Given the description of an element on the screen output the (x, y) to click on. 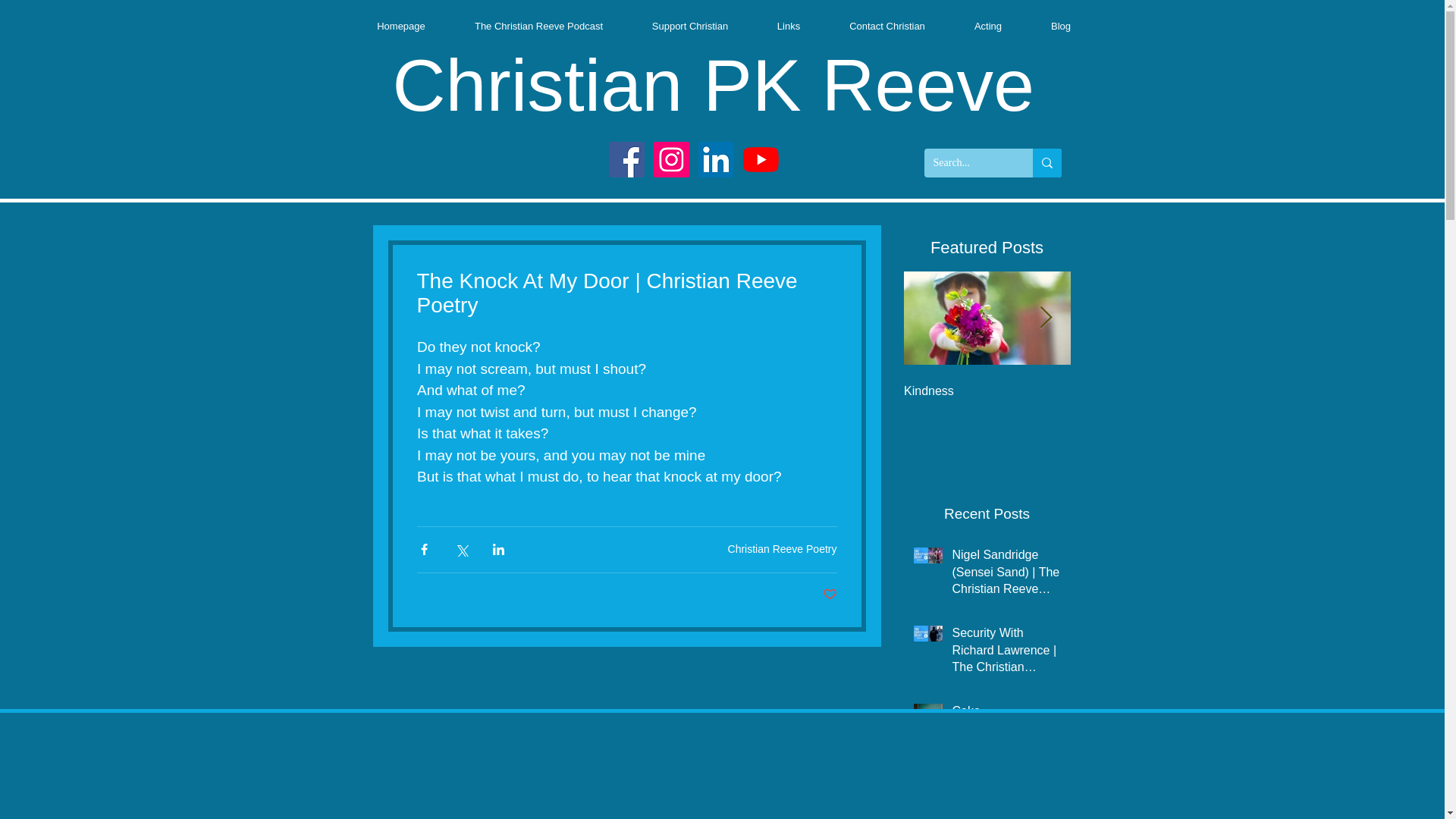
Post not marked as liked (828, 594)
Support Christian (689, 26)
Cake (1006, 713)
Homepage (400, 26)
Christian Reeve Poetry (782, 548)
The Christian Reeve Podcast (538, 26)
Christian PK Reeve (713, 85)
Kindness (987, 391)
Interview With Marten Kuningas (1153, 397)
Contact Christian (887, 26)
Links (788, 26)
Blog (1061, 26)
Acting (987, 26)
